Given the description of an element on the screen output the (x, y) to click on. 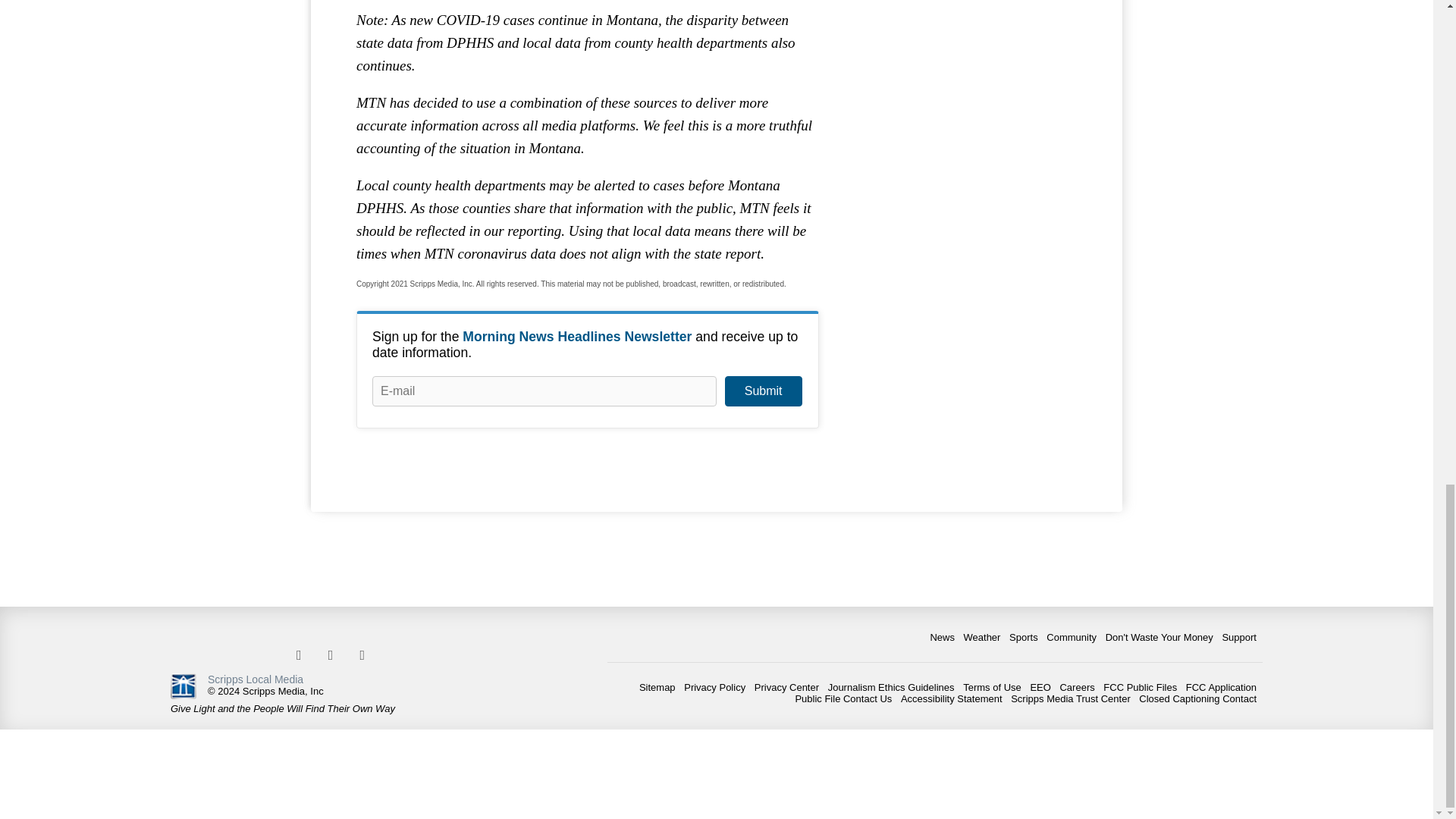
Submit (763, 390)
